Given the description of an element on the screen output the (x, y) to click on. 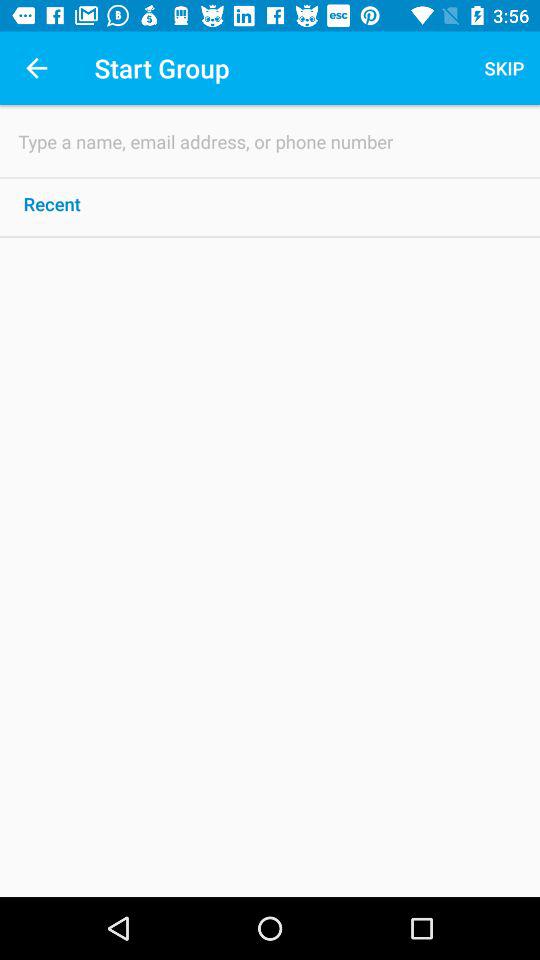
open app to the left of start group app (36, 68)
